Given the description of an element on the screen output the (x, y) to click on. 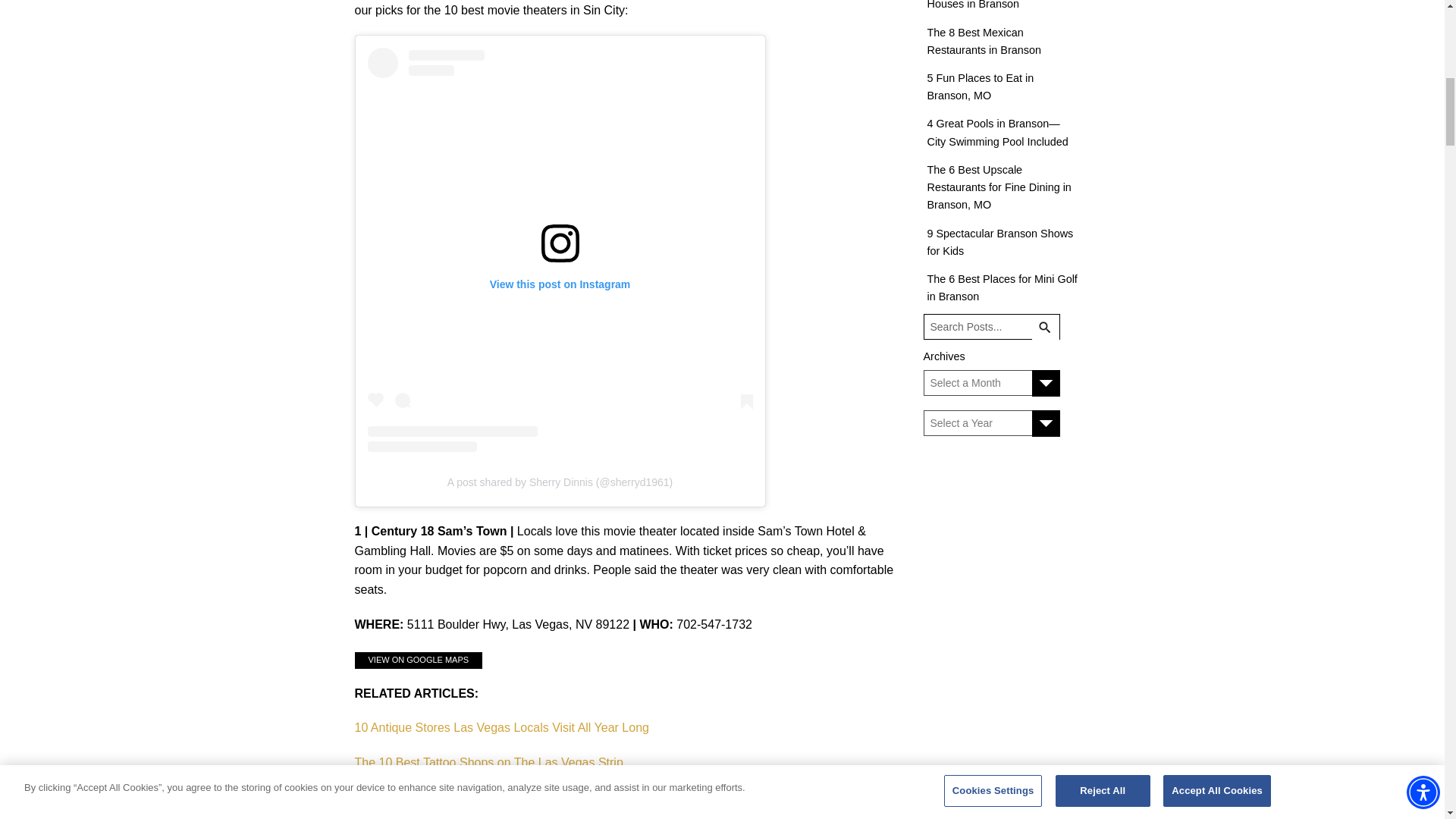
FareHarbor (1342, 64)
